Given the description of an element on the screen output the (x, y) to click on. 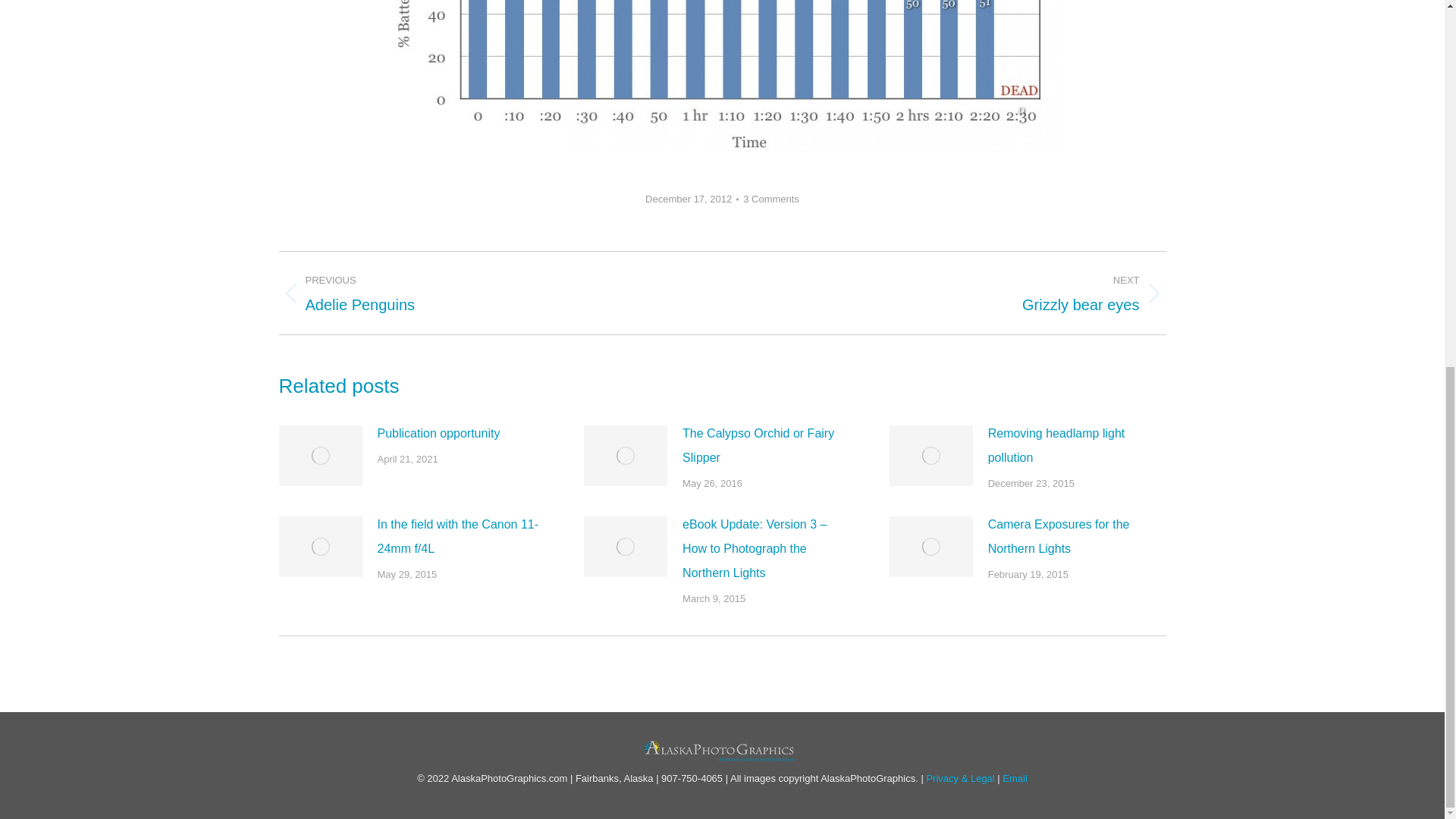
7:57 am (691, 199)
